Given the description of an element on the screen output the (x, y) to click on. 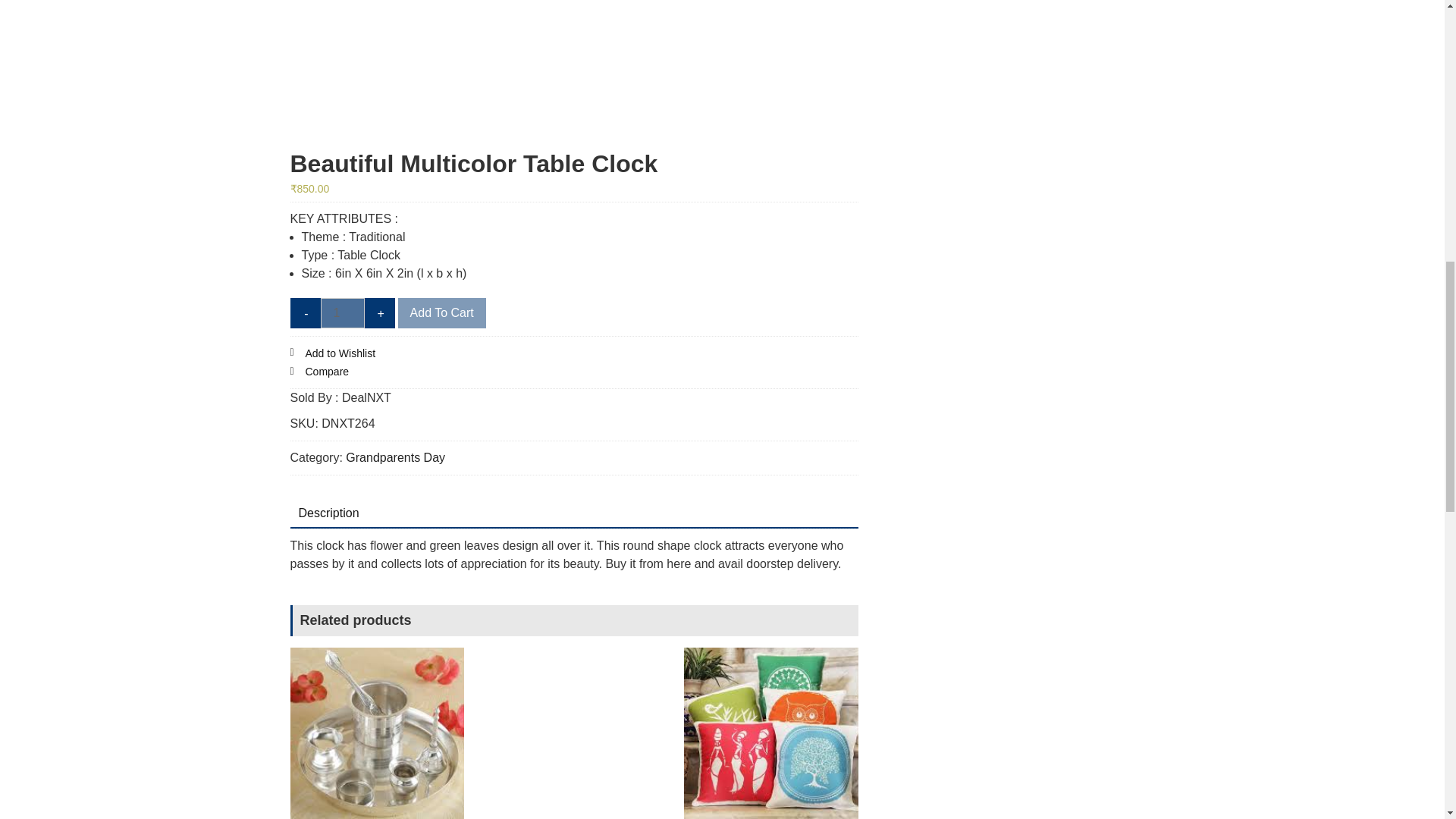
Qty (342, 313)
1 (342, 313)
- (304, 313)
Set of 5 Traditional Handmade Print Canvas Cushion (771, 733)
All-in-One Puja Aarti Set (376, 733)
